Given the description of an element on the screen output the (x, y) to click on. 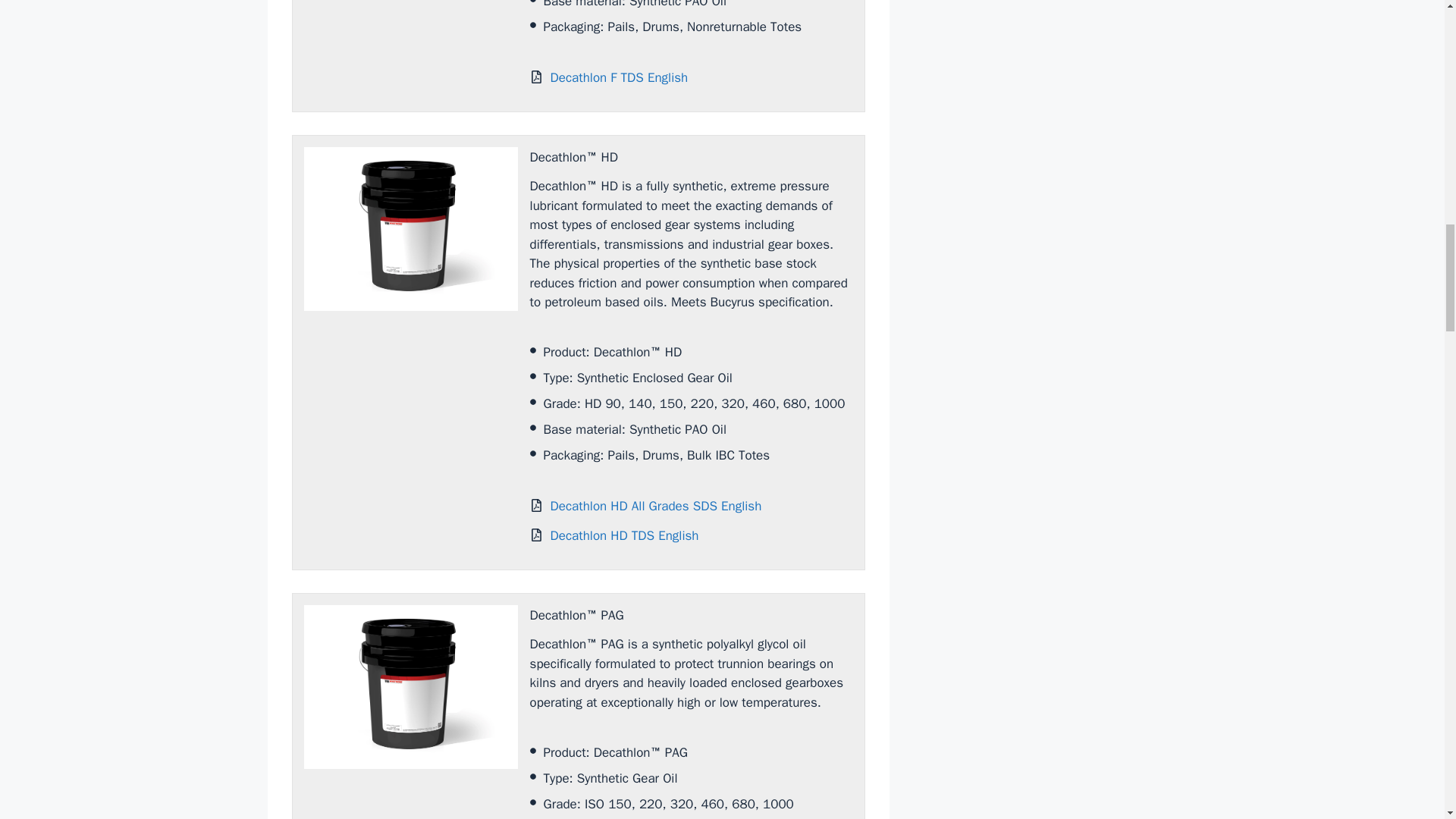
Whitmore Decathlon HD Gear Oils (409, 229)
Whitmore Decathlon PAG Gear Oils (409, 687)
